Given the description of an element on the screen output the (x, y) to click on. 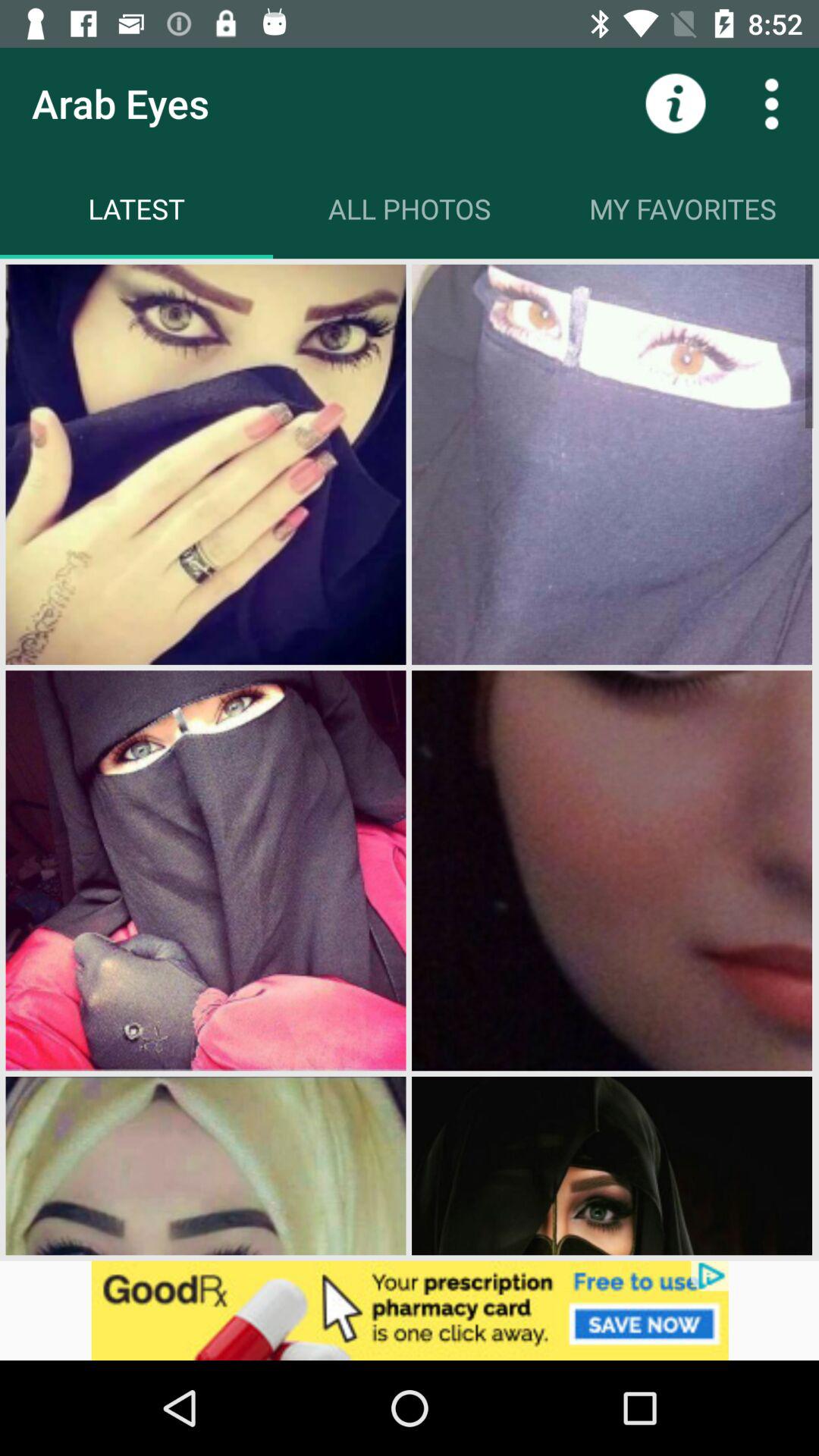
advertising pop up banner (409, 1310)
